Given the description of an element on the screen output the (x, y) to click on. 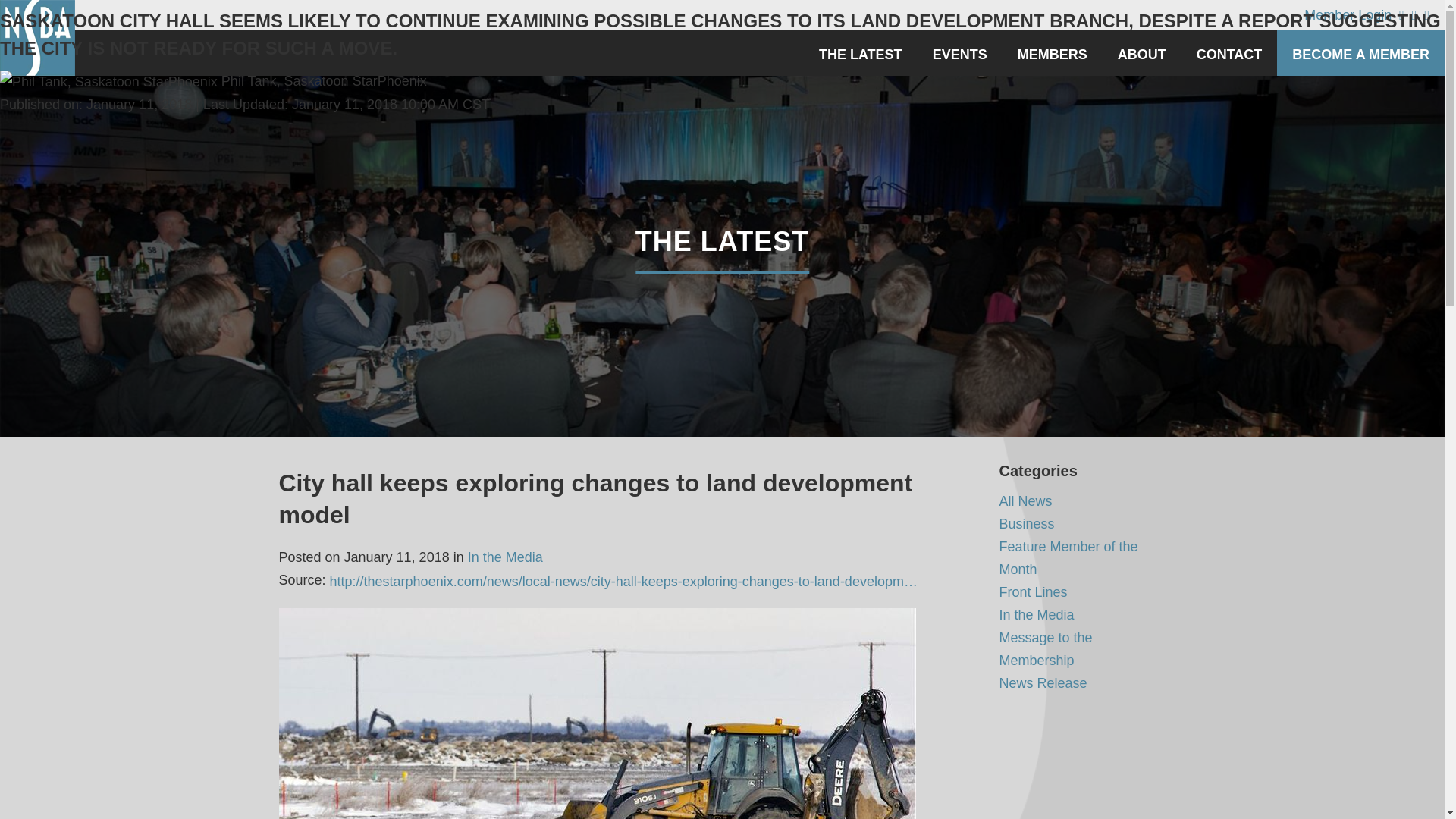
ABOUT (1141, 53)
In the Media (505, 557)
Member Login (1347, 14)
CONTACT (1229, 53)
THE LATEST (860, 53)
MEMBERS (1052, 53)
EVENTS (960, 53)
